Given the description of an element on the screen output the (x, y) to click on. 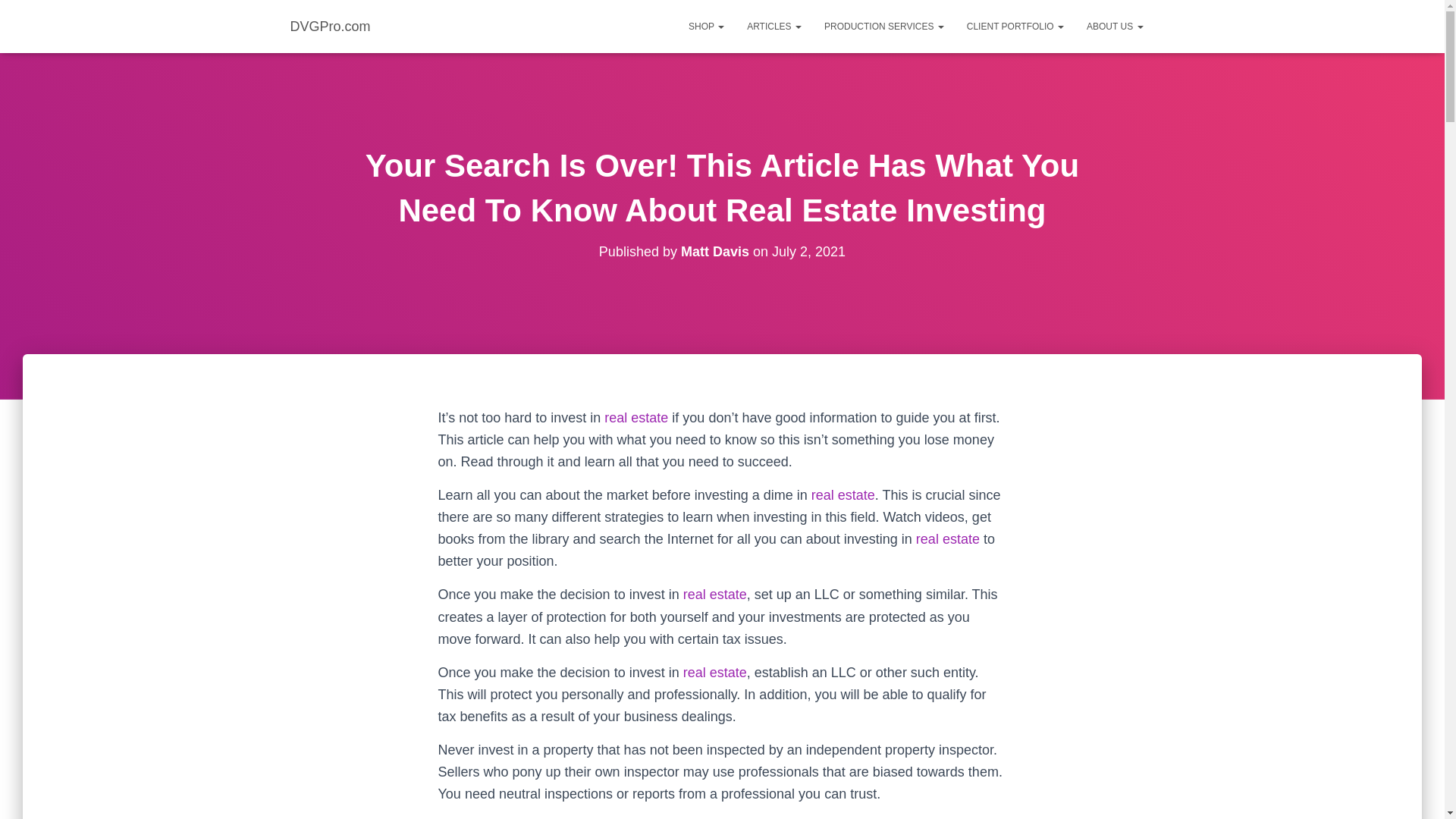
ARTICLES (773, 26)
DVGPro.com (330, 26)
DVGPro.com (330, 26)
SHOP (706, 26)
Shop (706, 26)
